Given the description of an element on the screen output the (x, y) to click on. 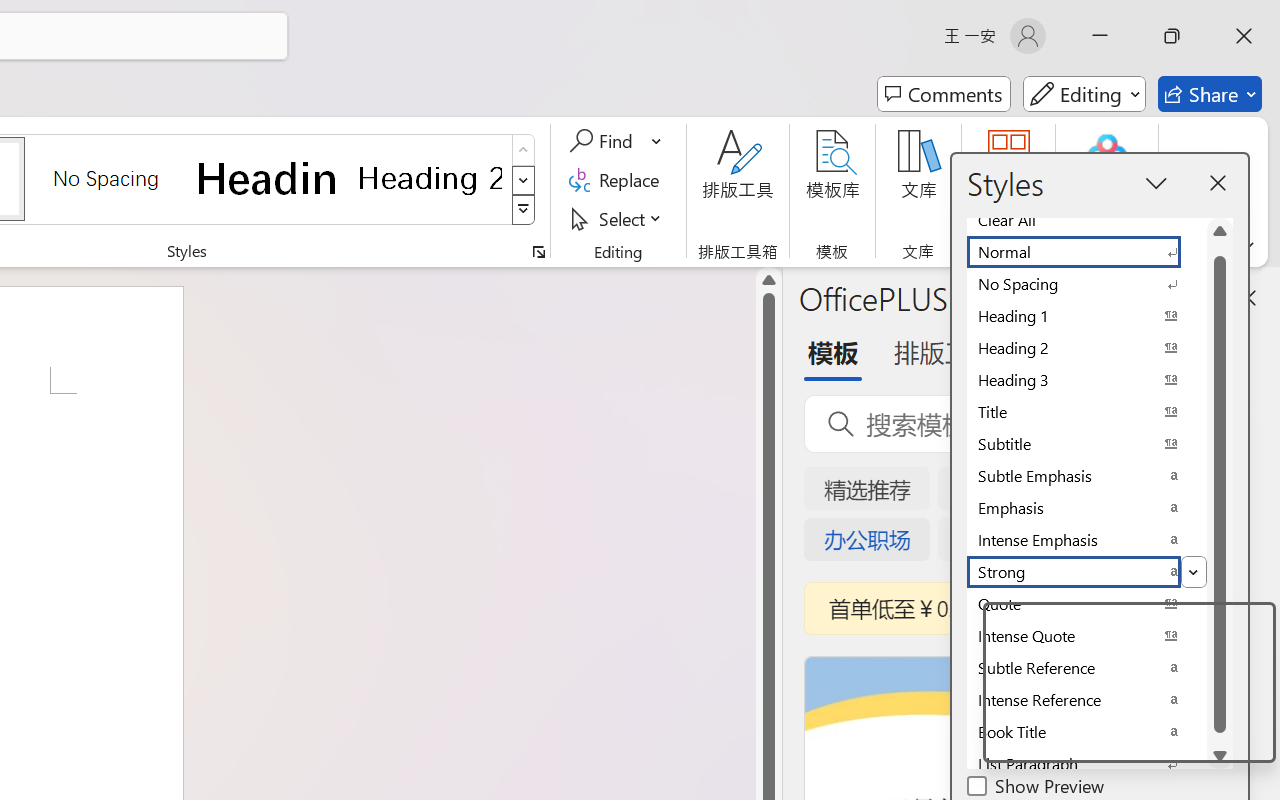
More Options (657, 141)
Task Pane Options (1186, 297)
Line up (769, 279)
Row up (523, 150)
No Spacing (1086, 284)
Mode (1083, 94)
Heading 1 (267, 178)
Class: NetUIImage (523, 210)
Heading 3 (1086, 380)
Intense Emphasis (1086, 540)
Subtle Emphasis (1086, 475)
Find (616, 141)
Share (1210, 94)
